Given the description of an element on the screen output the (x, y) to click on. 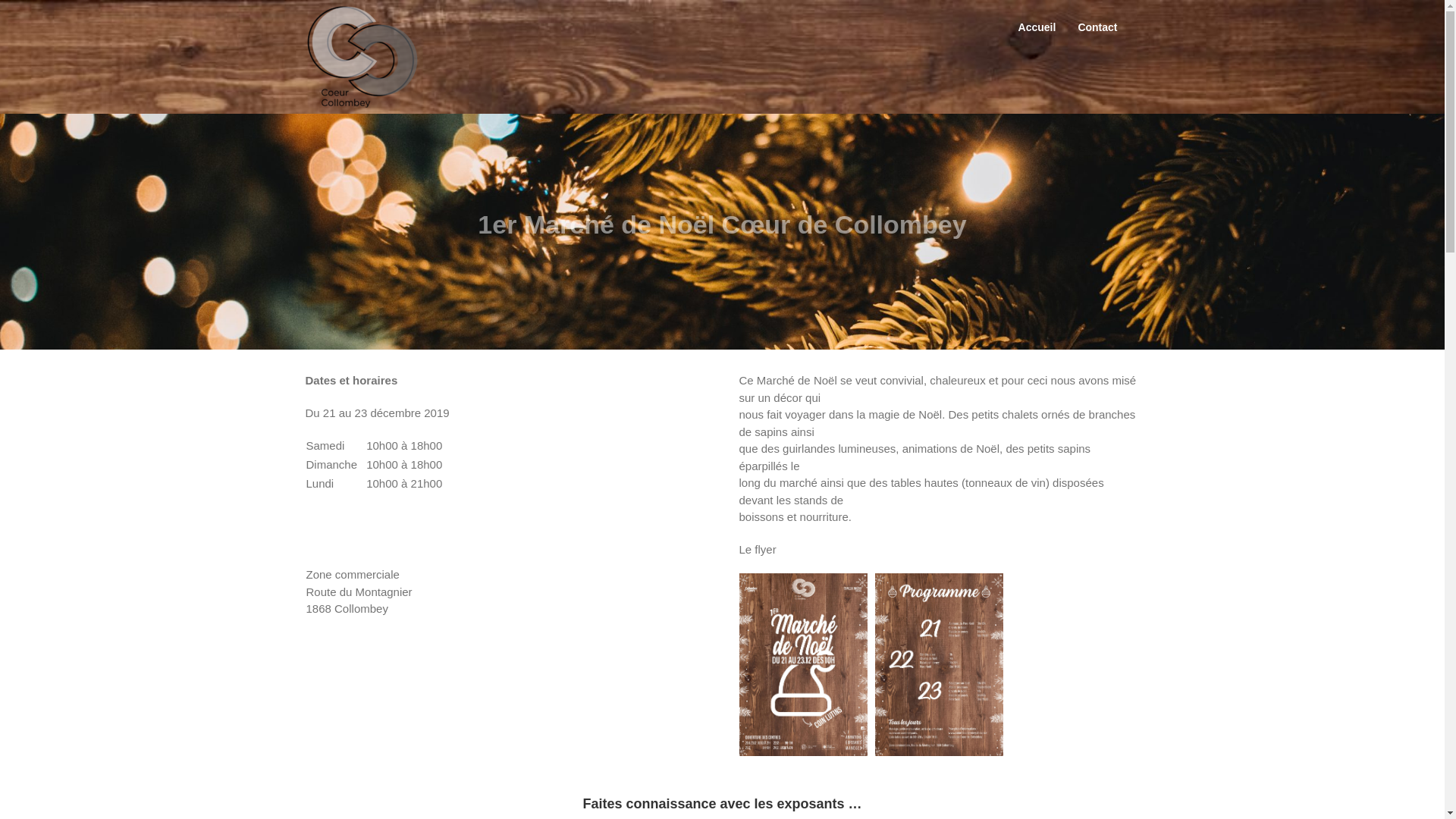
2 Element type: hover (939, 664)
1 Element type: hover (802, 664)
Contact Element type: text (1097, 24)
Accueil Element type: text (1037, 24)
